Given the description of an element on the screen output the (x, y) to click on. 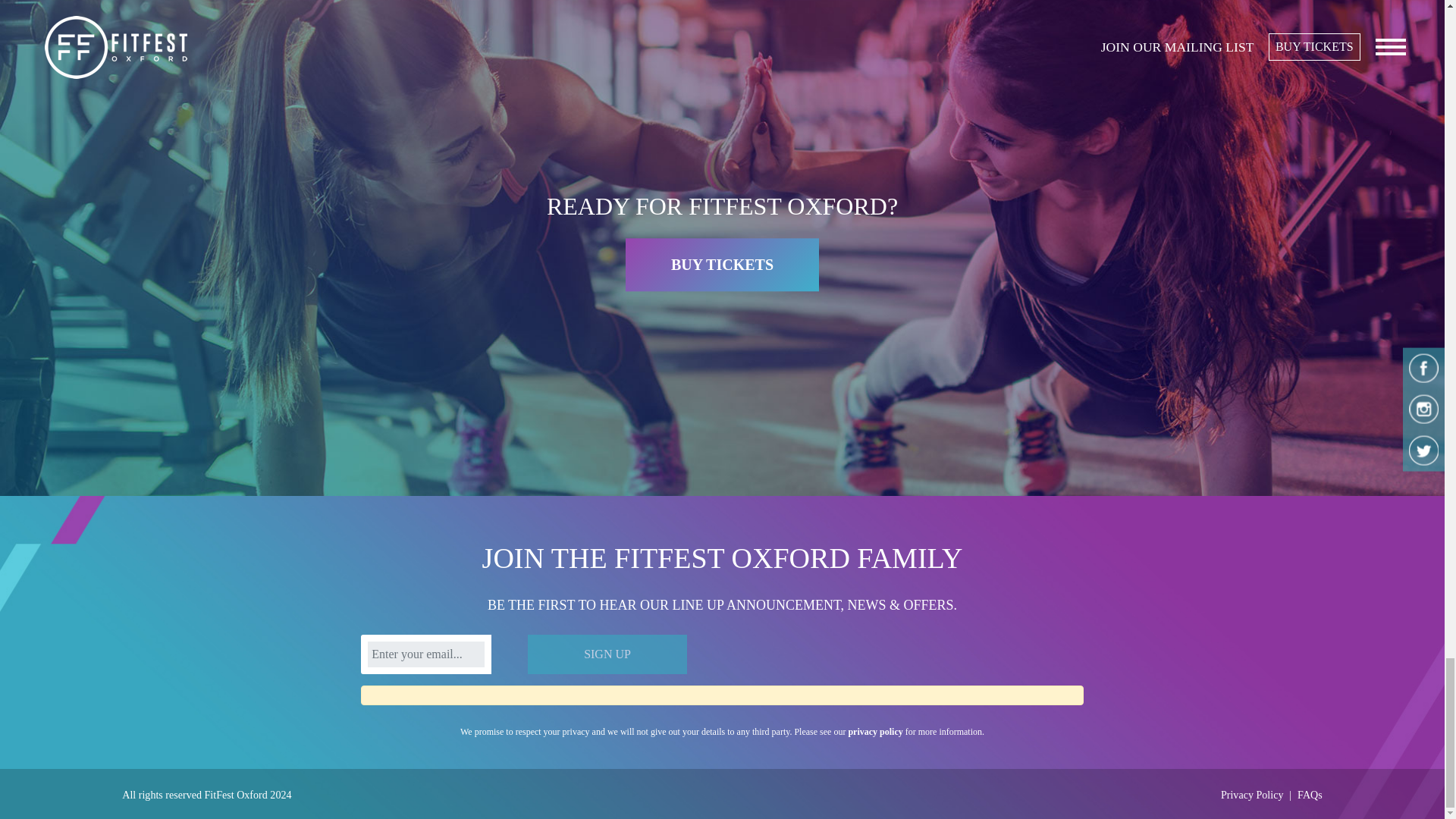
Privacy Policy (1252, 794)
FAQs (1309, 794)
FAQs (1309, 794)
Privacy Policy (1252, 794)
BUY TICKETS (722, 265)
Buy Tickets (722, 265)
SIGN UP (607, 654)
privacy policy (874, 731)
